Given the description of an element on the screen output the (x, y) to click on. 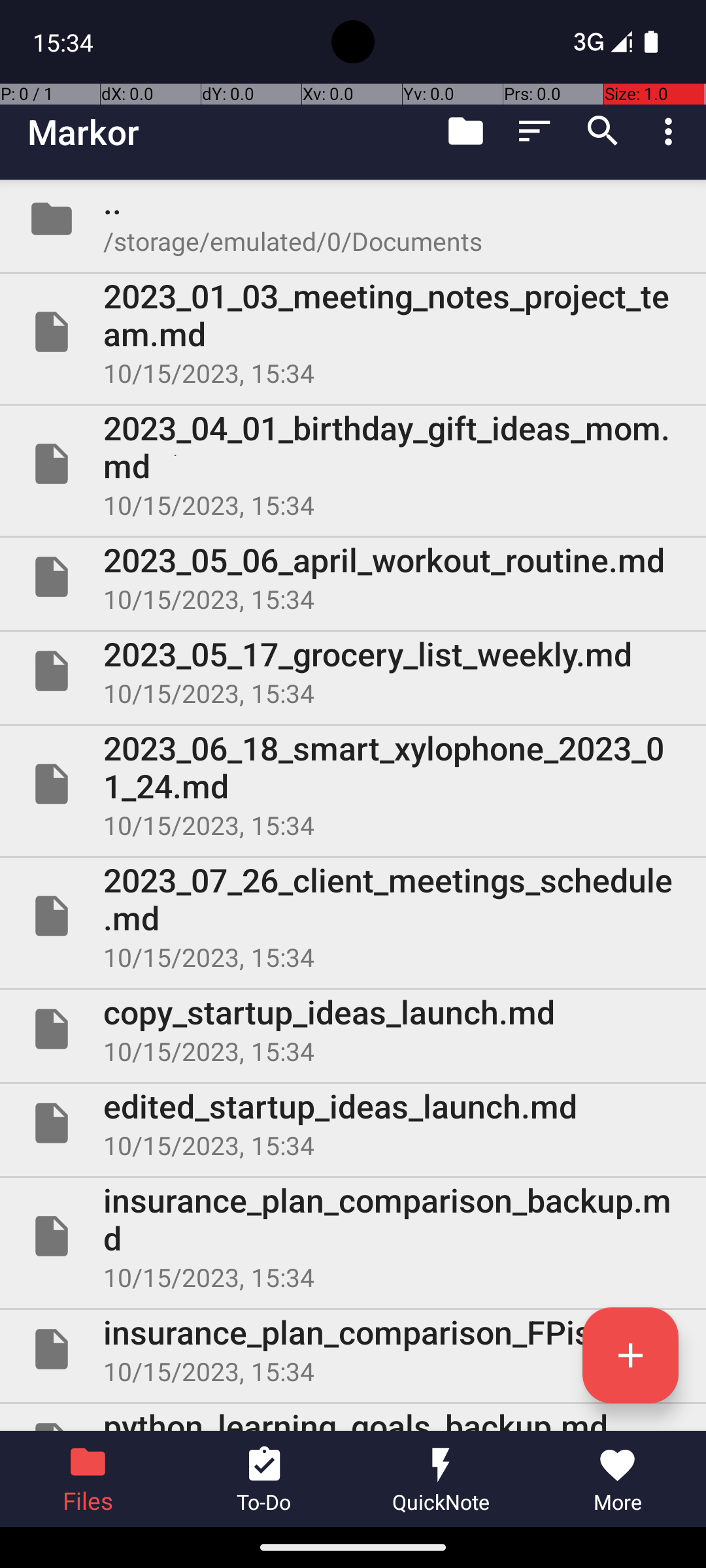
File 2023_01_03_meeting_notes_project_team.md  Element type: android.widget.LinearLayout (353, 331)
File 2023_04_01_birthday_gift_ideas_mom.md  Element type: android.widget.LinearLayout (353, 463)
File 2023_05_06_april_workout_routine.md  Element type: android.widget.LinearLayout (353, 576)
File 2023_05_17_grocery_list_weekly.md  Element type: android.widget.LinearLayout (353, 670)
File 2023_06_18_smart_xylophone_2023_01_24.md  Element type: android.widget.LinearLayout (353, 783)
File 2023_07_26_client_meetings_schedule.md  Element type: android.widget.LinearLayout (353, 915)
File copy_startup_ideas_launch.md  Element type: android.widget.LinearLayout (353, 1028)
File edited_startup_ideas_launch.md  Element type: android.widget.LinearLayout (353, 1122)
File insurance_plan_comparison_backup.md  Element type: android.widget.LinearLayout (353, 1235)
File insurance_plan_comparison_FPis.md  Element type: android.widget.LinearLayout (353, 1348)
File python_learning_goals_backup.md  Element type: android.widget.LinearLayout (353, 1417)
